Given the description of an element on the screen output the (x, y) to click on. 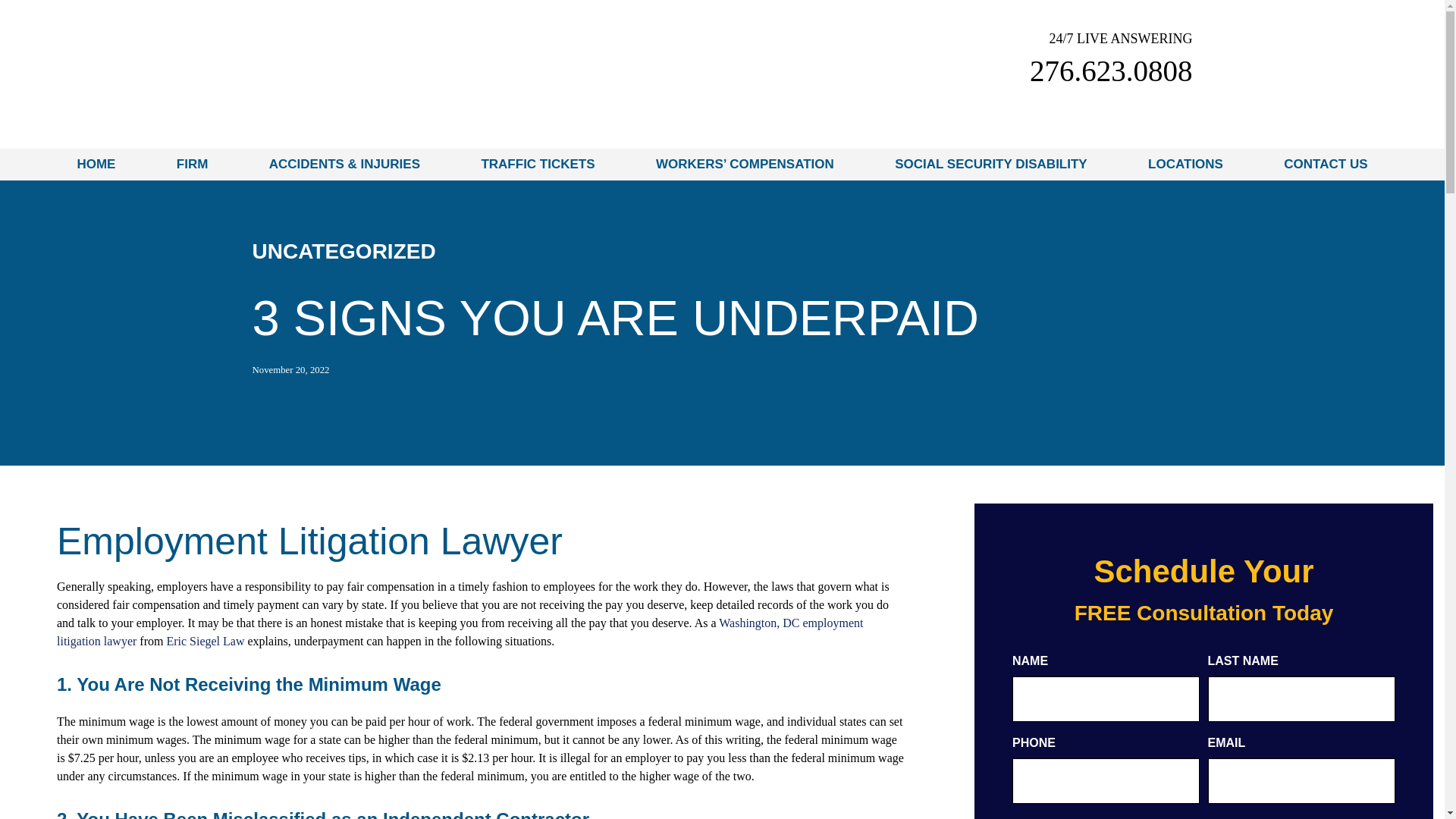
FIRM (191, 164)
SOCIAL SECURITY DISABILITY (990, 164)
276.623.0808 (1110, 70)
Home (95, 164)
HOME (95, 164)
Firm (191, 164)
LOCATIONS (1185, 164)
TRAFFIC TICKETS (537, 164)
